Given the description of an element on the screen output the (x, y) to click on. 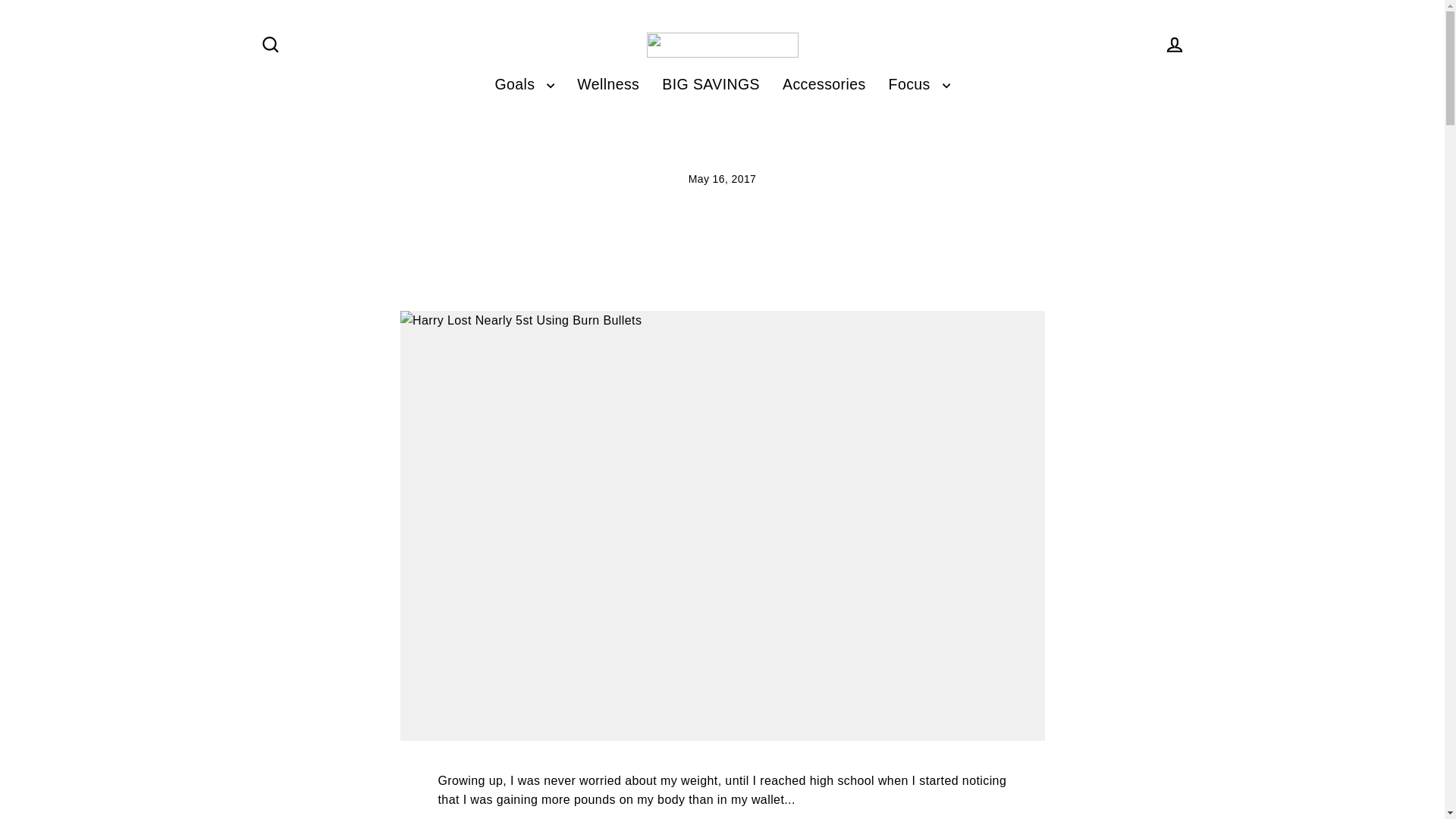
Log in (1173, 44)
Wellness (608, 84)
BIG SAVINGS (710, 84)
Accessories (824, 84)
Search (269, 44)
